Given the description of an element on the screen output the (x, y) to click on. 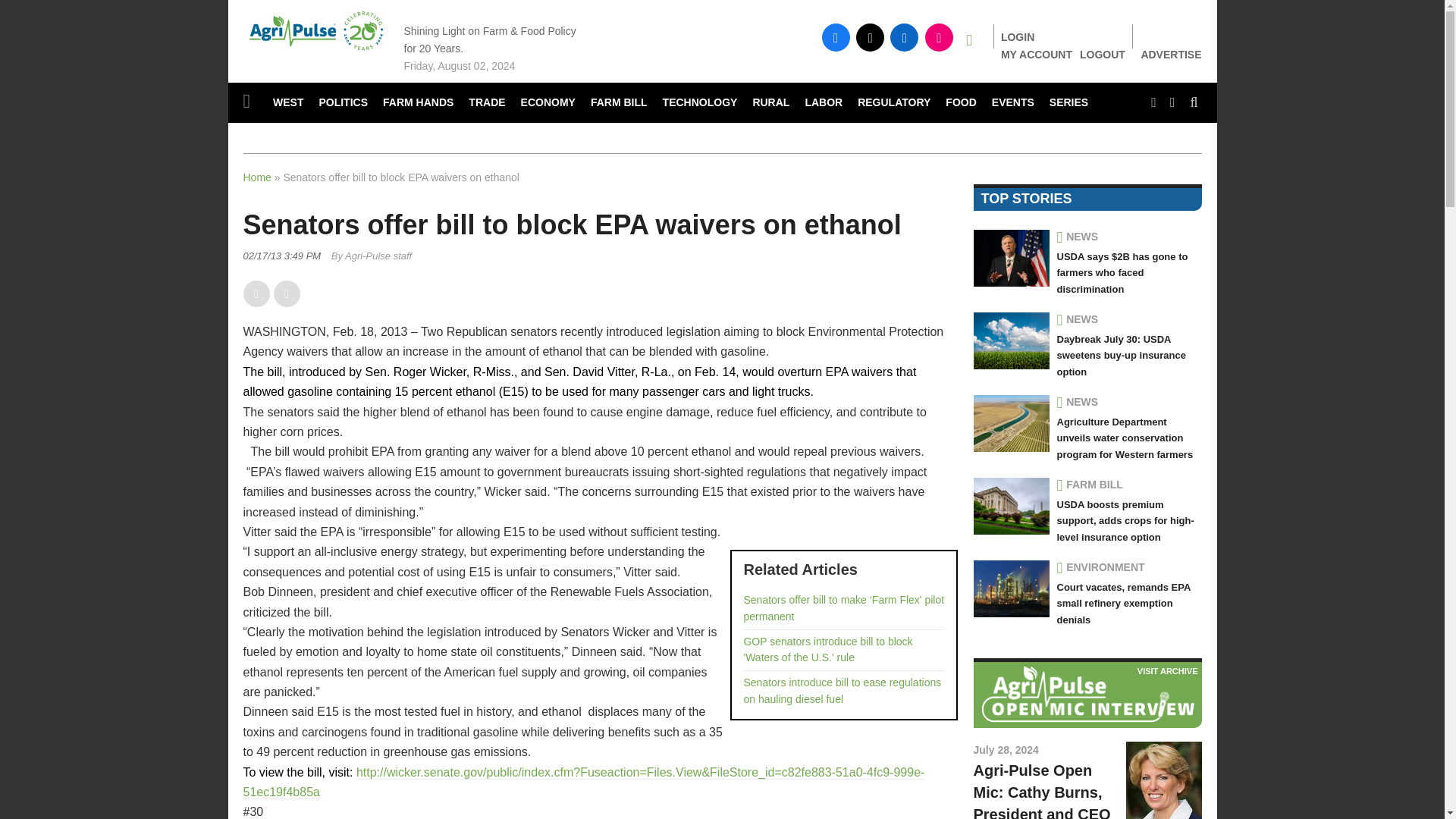
FOOD (960, 102)
FARM HANDS (418, 102)
FARM BILL (619, 102)
ADVERTISE (1170, 54)
WEST (287, 102)
REGULATORY (893, 102)
LOGOUT (1102, 54)
LOGIN (1017, 37)
EVENTS (1013, 102)
TECHNOLOGY (700, 102)
LABOR (823, 102)
RURAL (770, 102)
POLITICS (343, 102)
MY ACCOUNT (1036, 54)
TRADE (486, 102)
